Given the description of an element on the screen output the (x, y) to click on. 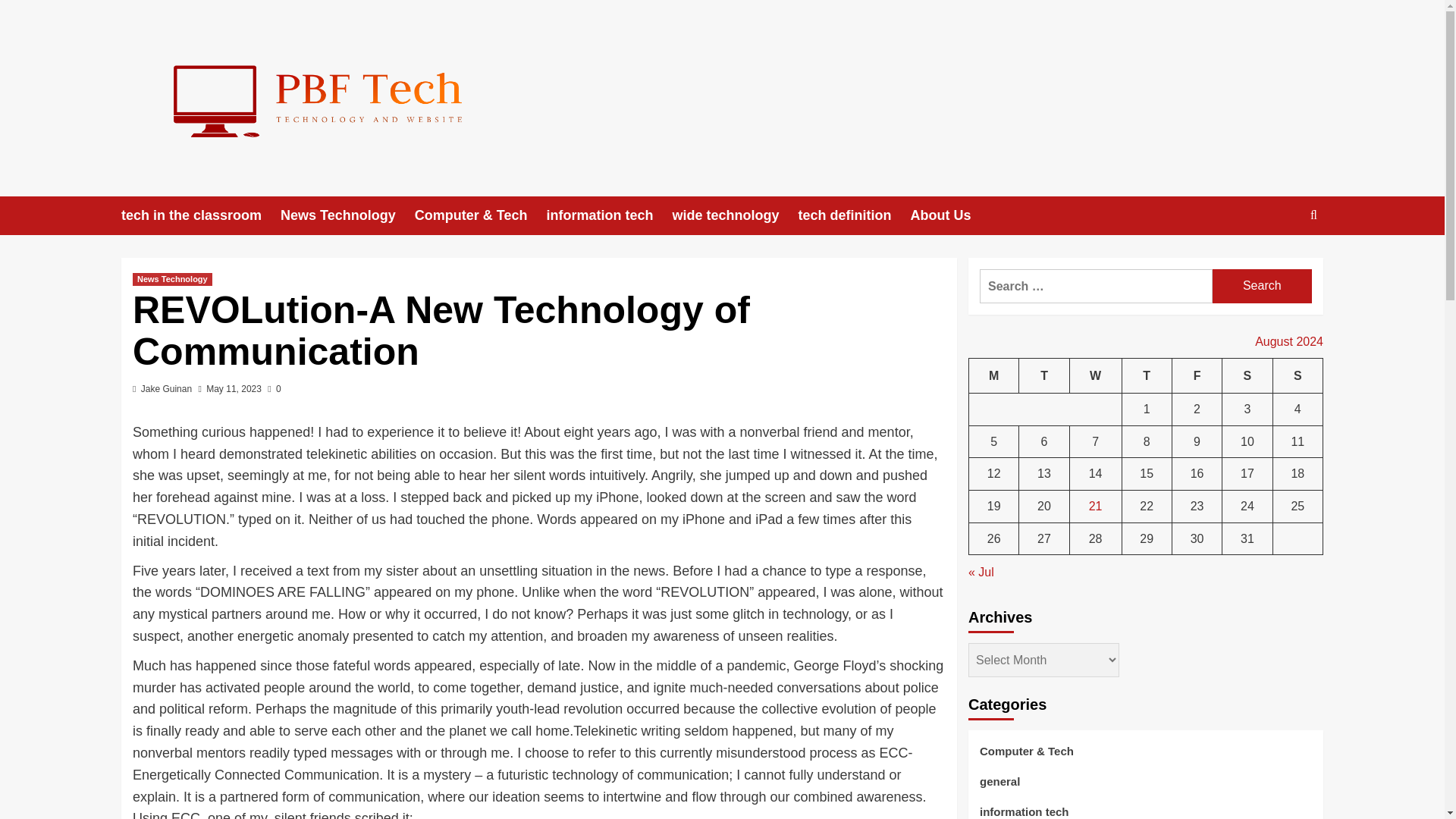
Search (1278, 261)
Search (1261, 286)
News Technology (347, 215)
0 (274, 388)
tech definition (853, 215)
Sunday (1297, 375)
May 11, 2023 (234, 388)
About Us (950, 215)
wide technology (734, 215)
Wednesday (1094, 375)
